Given the description of an element on the screen output the (x, y) to click on. 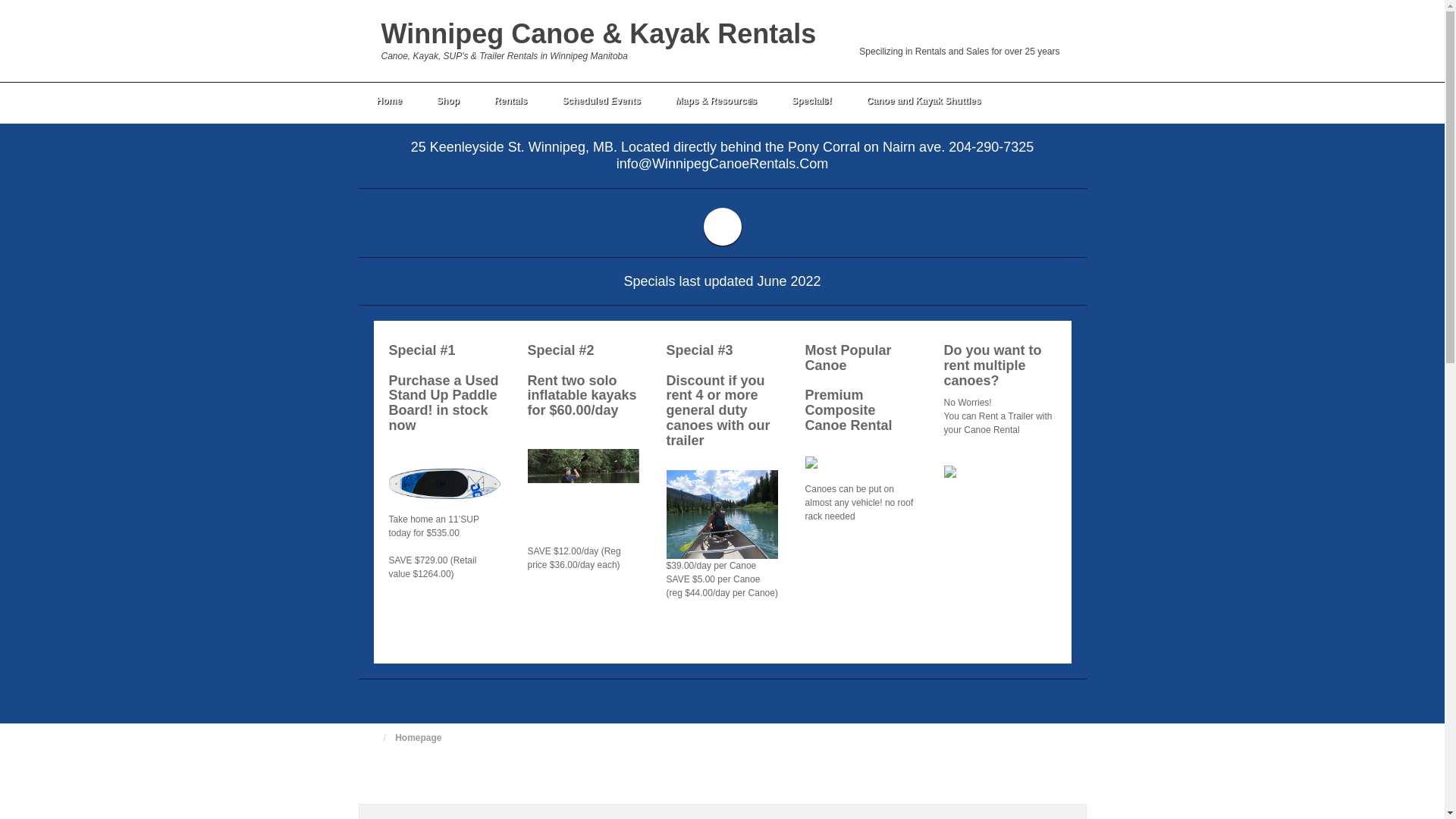
Specials! (811, 102)
Scheduled Events (600, 102)
Shop (448, 102)
inflatable kayak rentals (583, 494)
Email (1048, 31)
Rentals (510, 102)
Canoe and Kayak Shuttles (923, 102)
Canoe Rentals (722, 538)
Home (388, 102)
Email (1048, 31)
